Given the description of an element on the screen output the (x, y) to click on. 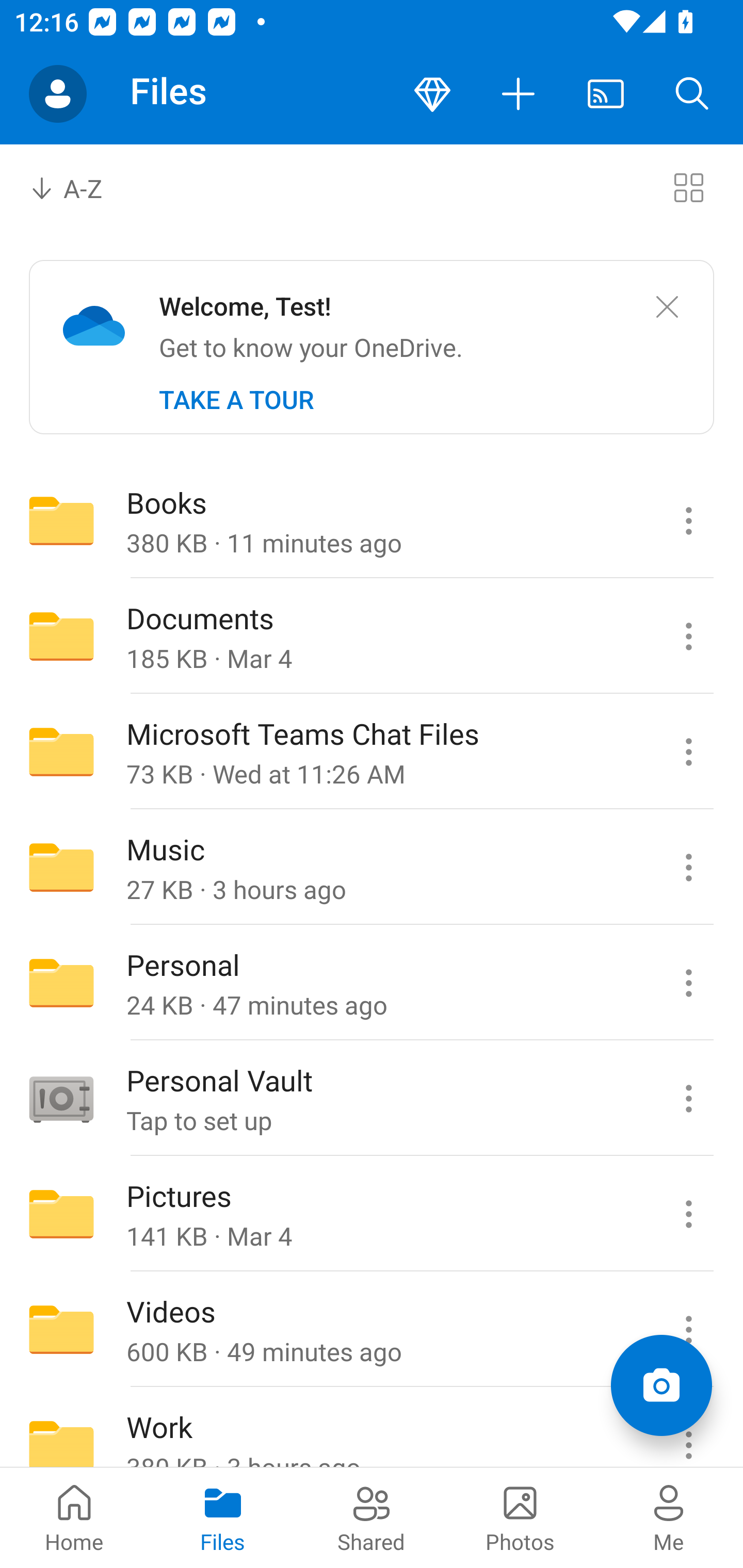
Account switcher (57, 93)
Cast. Disconnected (605, 93)
Premium button (432, 93)
More actions button (518, 93)
Search button (692, 93)
A-Z Sort by combo box, sort by name, A to Z (80, 187)
Switch to tiles view (688, 187)
Close (667, 307)
TAKE A TOUR (236, 399)
Books commands (688, 520)
Folder Documents 185 KB · Mar 4 Documents commands (371, 636)
Documents commands (688, 636)
Microsoft Teams Chat Files commands (688, 751)
Folder Music 27 KB · 3 hours ago Music commands (371, 867)
Music commands (688, 867)
Personal commands (688, 983)
Personal Vault commands (688, 1099)
Folder Pictures 141 KB · Mar 4 Pictures commands (371, 1214)
Pictures commands (688, 1214)
Videos commands (688, 1329)
Add items Scan (660, 1385)
Folder Work 380 KB · 3 hours ago Work commands (371, 1427)
Work commands (688, 1427)
Home pivot Home (74, 1517)
Shared pivot Shared (371, 1517)
Photos pivot Photos (519, 1517)
Me pivot Me (668, 1517)
